Given the description of an element on the screen output the (x, y) to click on. 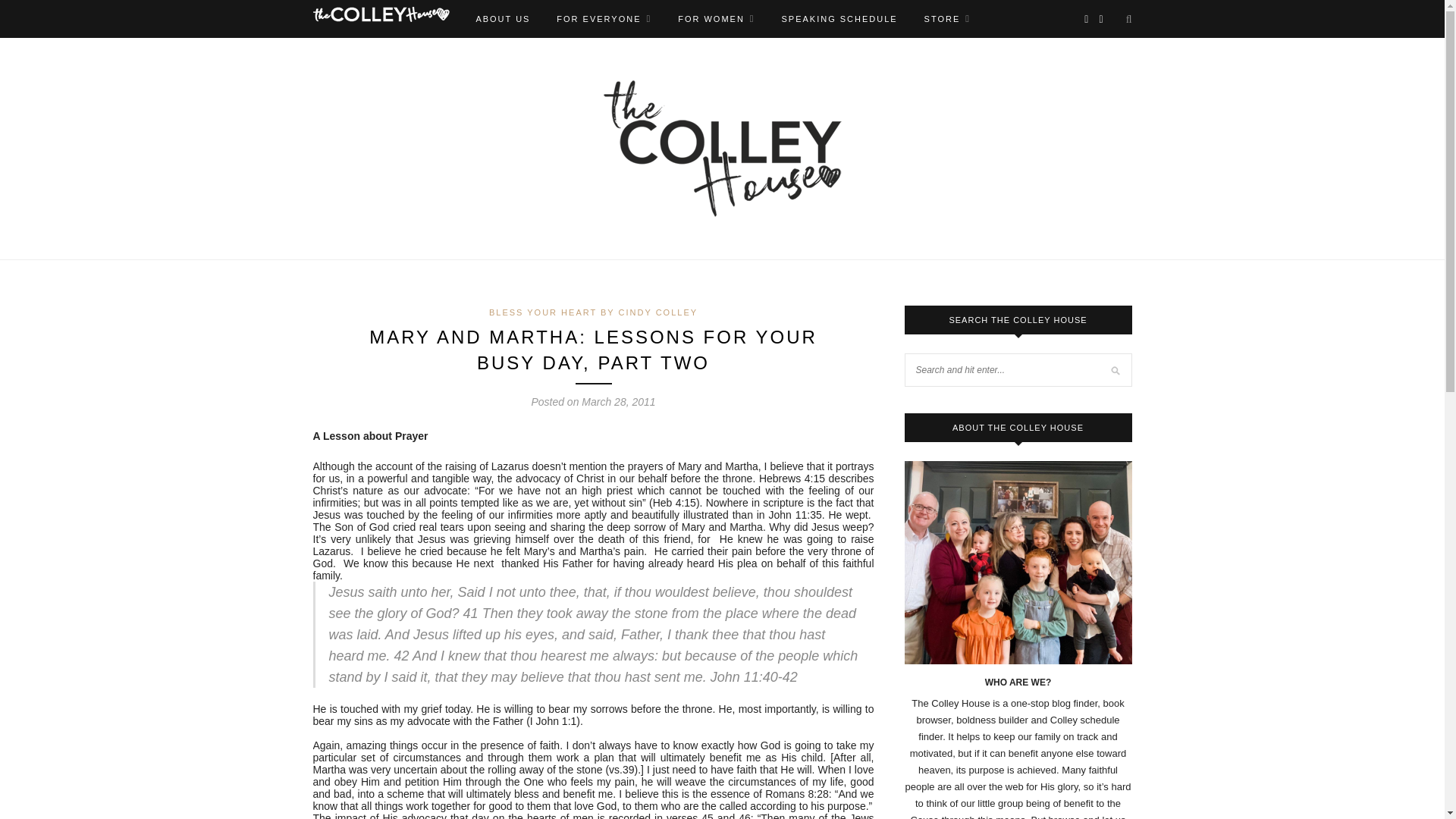
STORE (947, 18)
FOR EVERYONE (603, 18)
ABOUT US (502, 18)
Welcome! (716, 18)
FOR WOMEN (716, 18)
Home (380, 14)
SPEAKING SCHEDULE (838, 18)
